Given the description of an element on the screen output the (x, y) to click on. 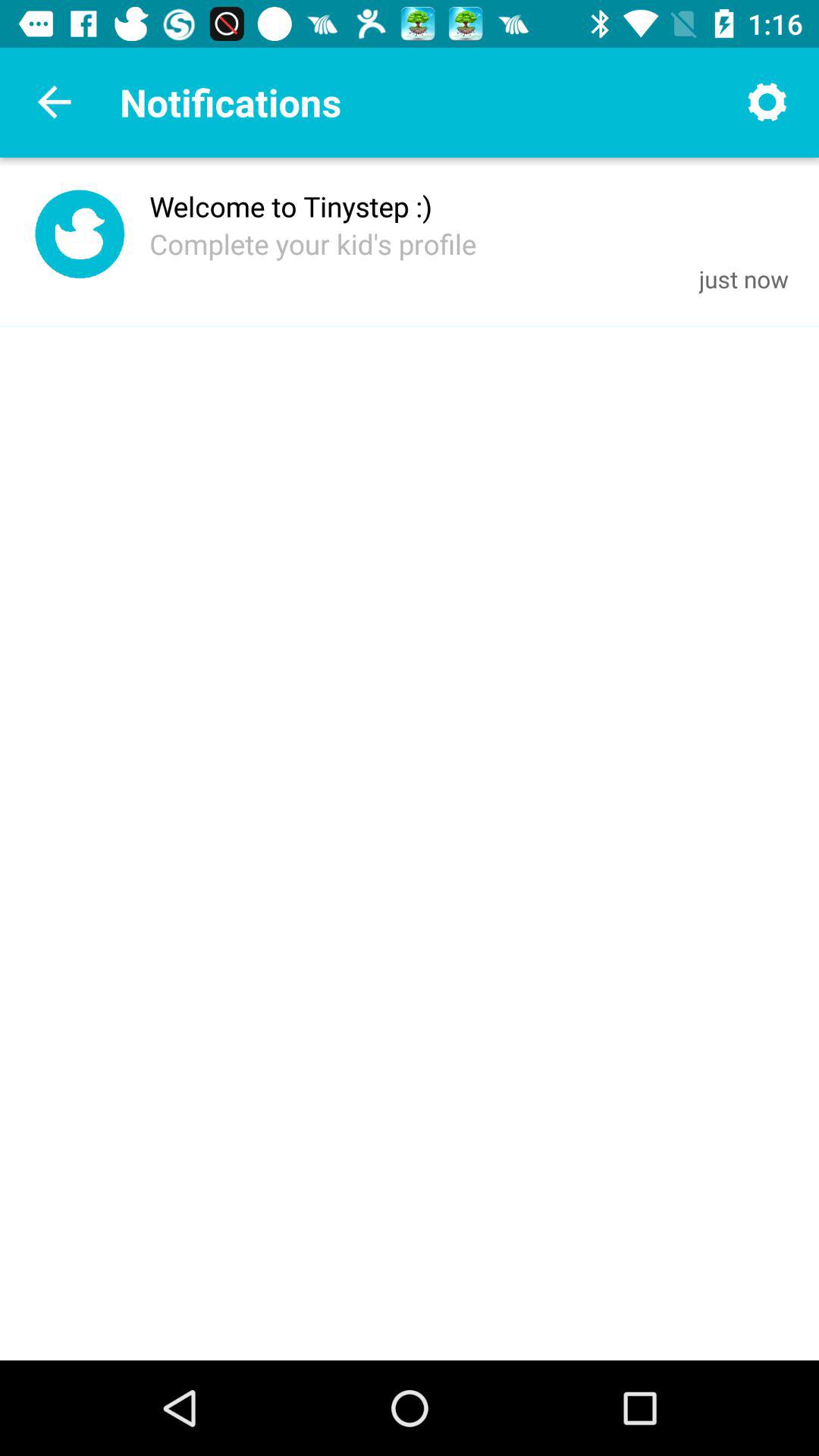
select icon above the complete your kid item (290, 206)
